Given the description of an element on the screen output the (x, y) to click on. 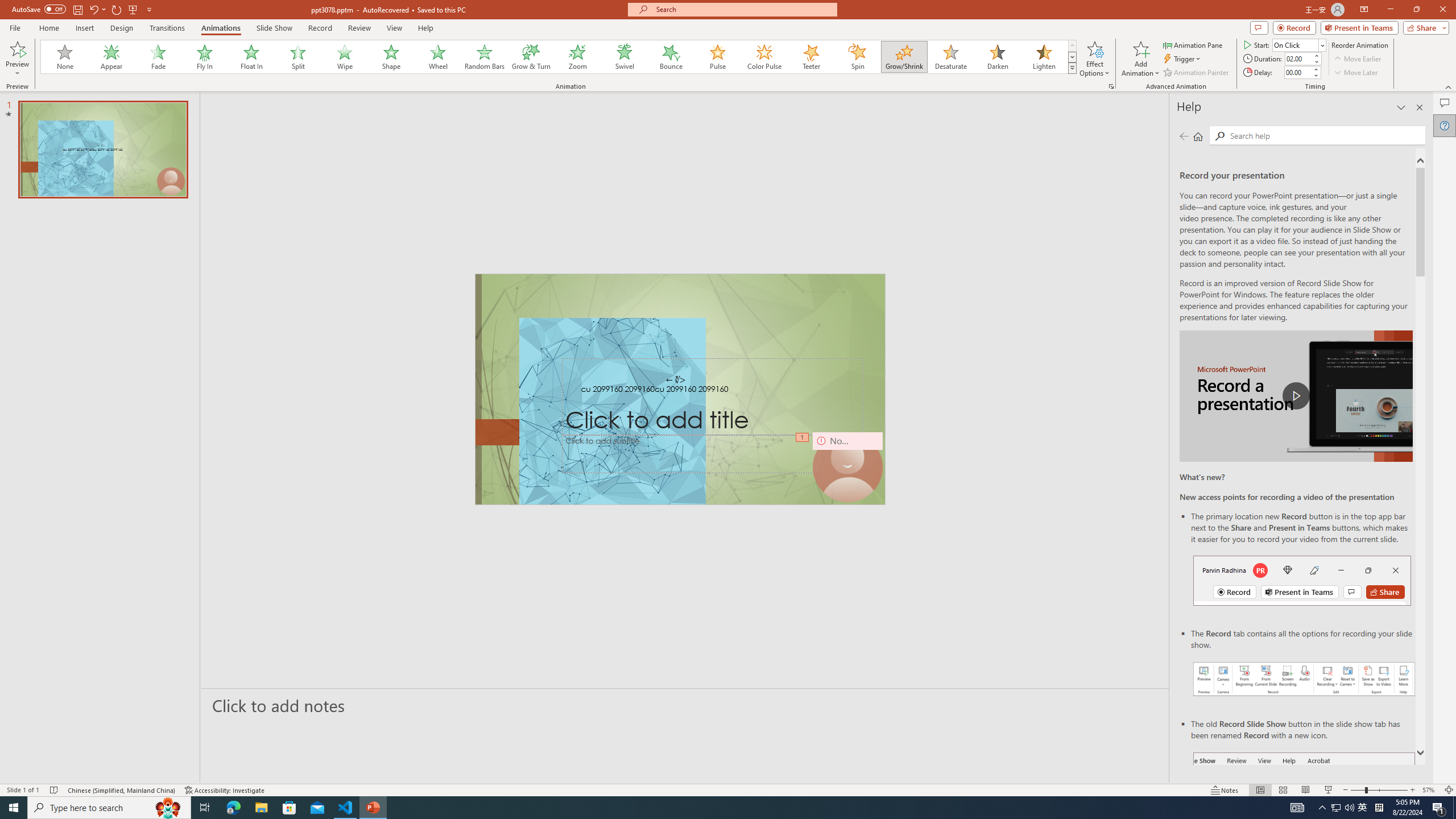
An abstract genetic concept (680, 389)
Move Later (1355, 72)
Desaturate (950, 56)
Appear (111, 56)
Animation Delay (1297, 72)
